Given the description of an element on the screen output the (x, y) to click on. 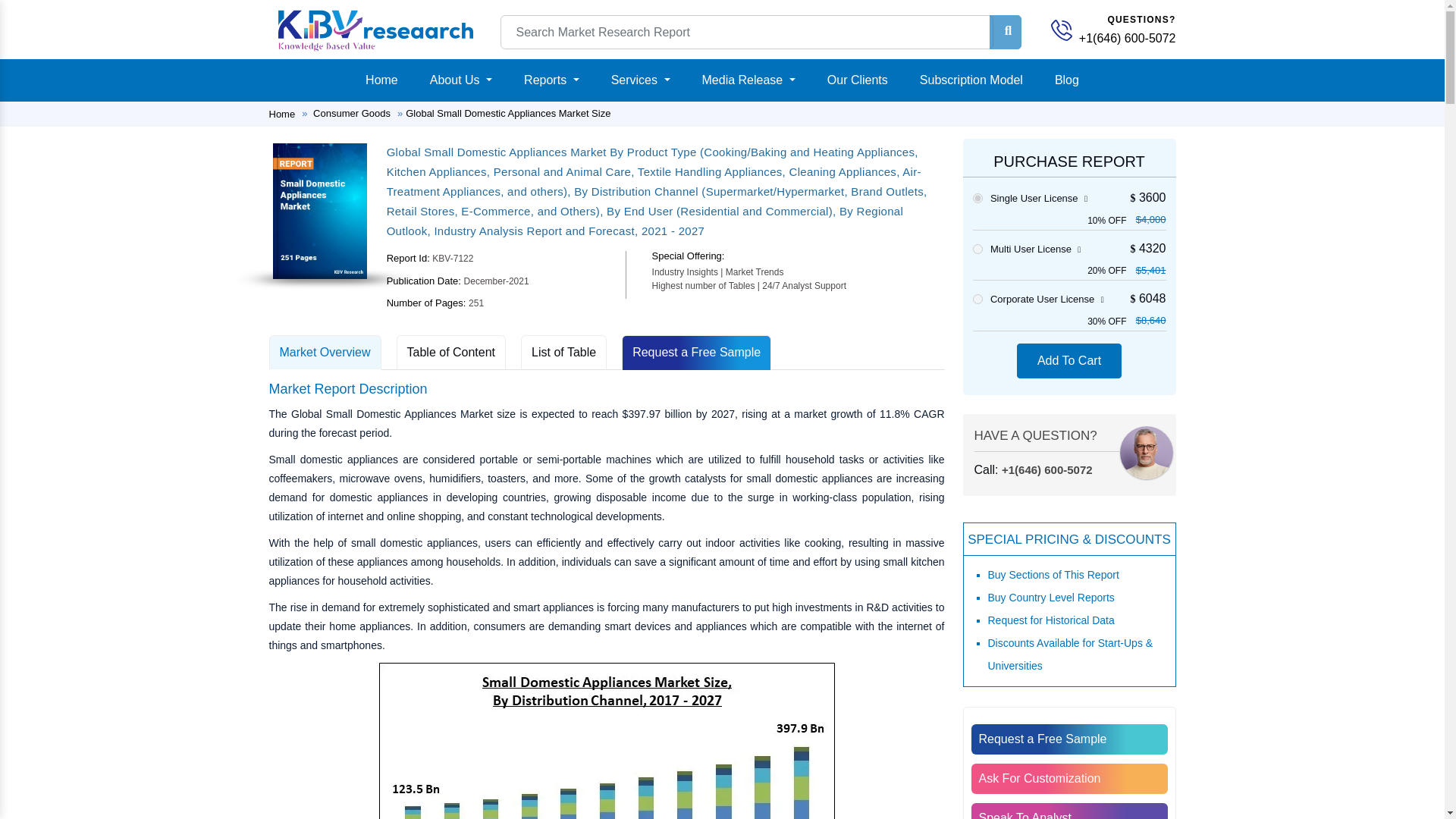
3600 (976, 198)
Media Release (748, 80)
Home (381, 80)
KBV Research (374, 30)
Blog (1066, 80)
Reports (551, 80)
6048 (976, 298)
Services (641, 80)
Subscription Model (971, 80)
About Us (460, 80)
Small Domestic Appliances Market (319, 211)
Our Clients (857, 80)
4320 (976, 248)
